Given the description of an element on the screen output the (x, y) to click on. 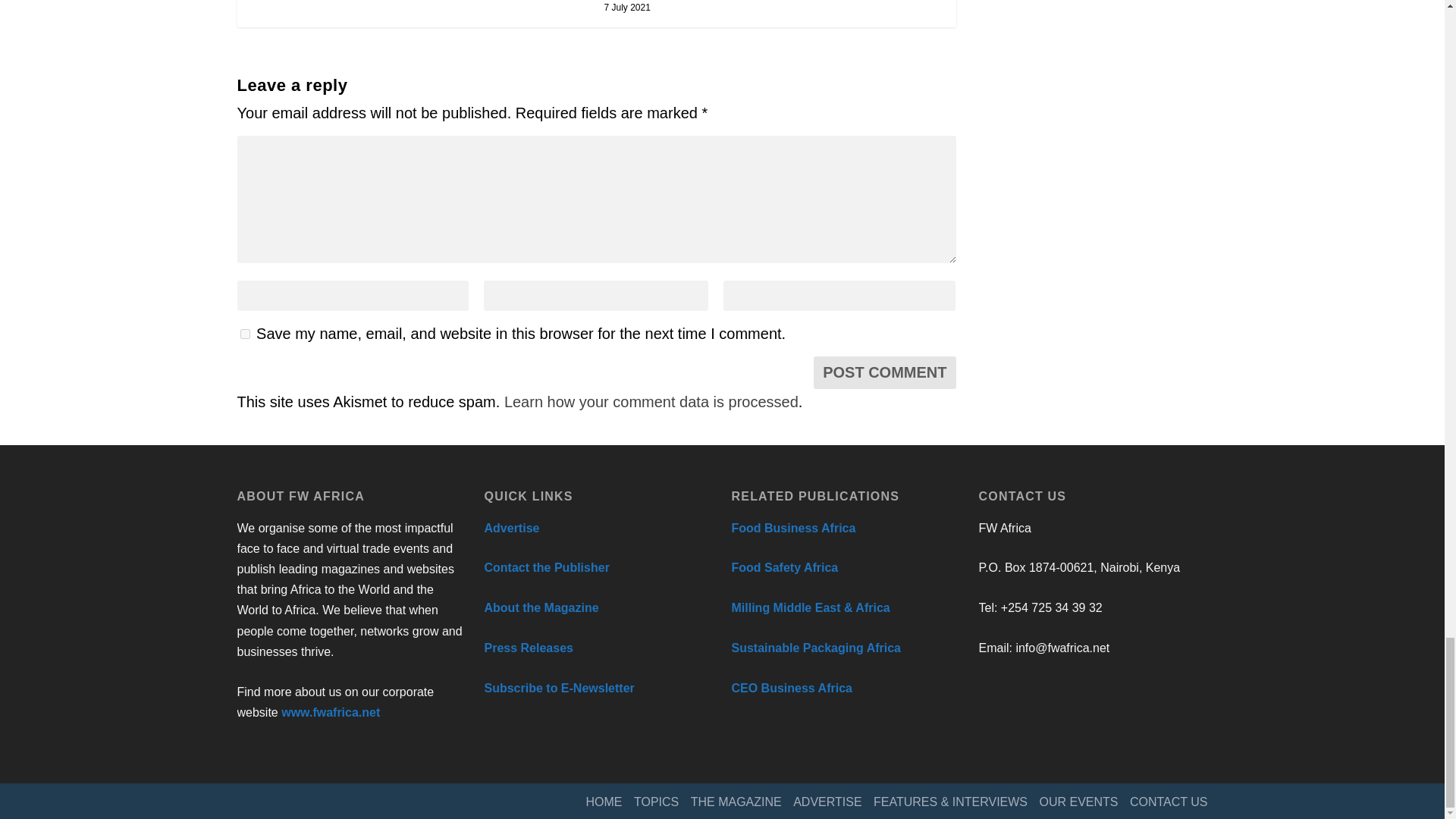
Post Comment (884, 372)
yes (244, 334)
